Given the description of an element on the screen output the (x, y) to click on. 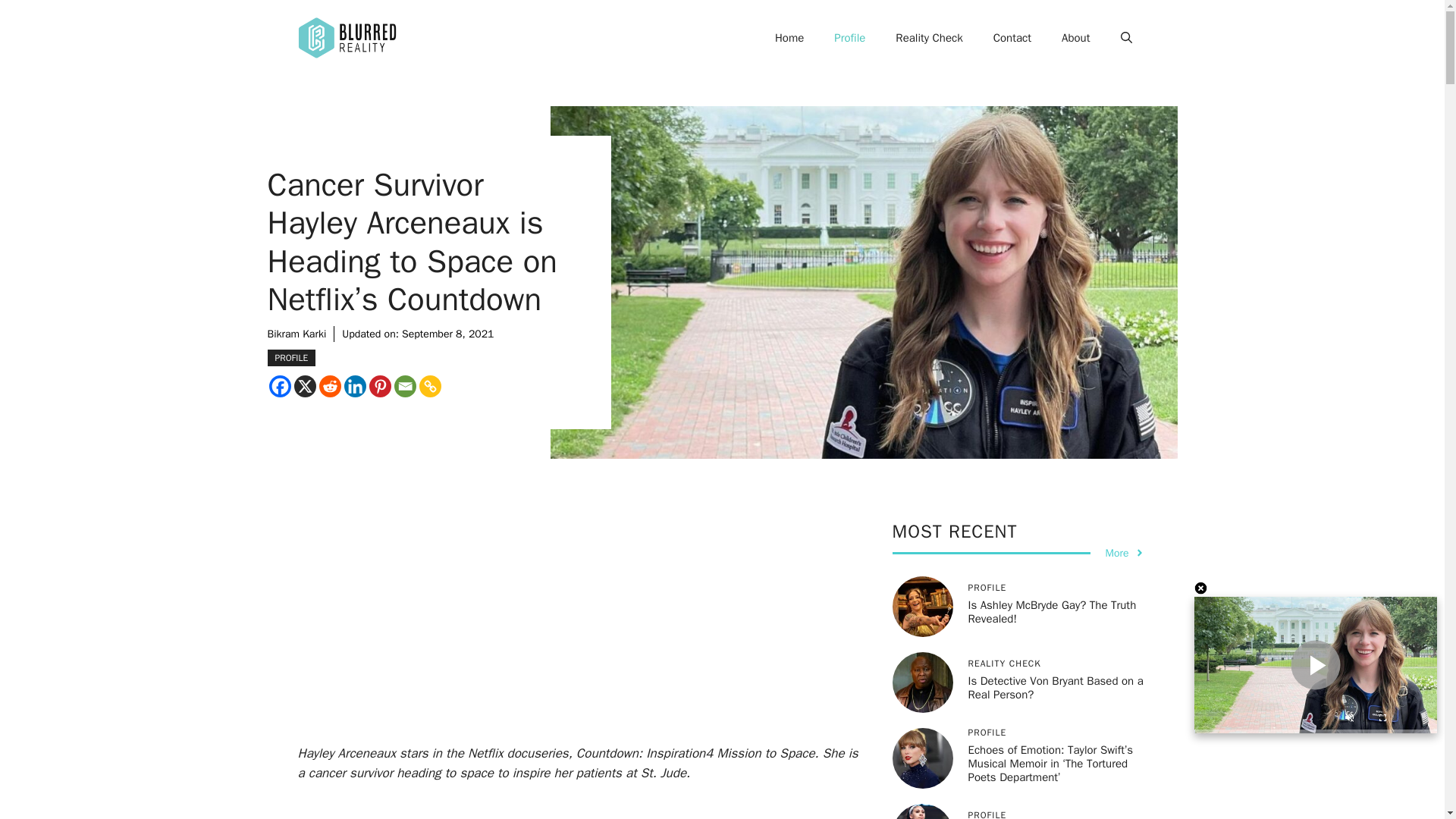
Contact (1012, 37)
Linkedin (354, 386)
Pinterest (379, 386)
Play (1314, 664)
Reality Check (928, 37)
X (304, 386)
Email (405, 386)
Unmute (1348, 719)
Profile (849, 37)
Play (1314, 664)
Bikram Karki (296, 333)
Facebook (278, 386)
Home (789, 37)
About (1075, 37)
PROFILE (290, 357)
